Given the description of an element on the screen output the (x, y) to click on. 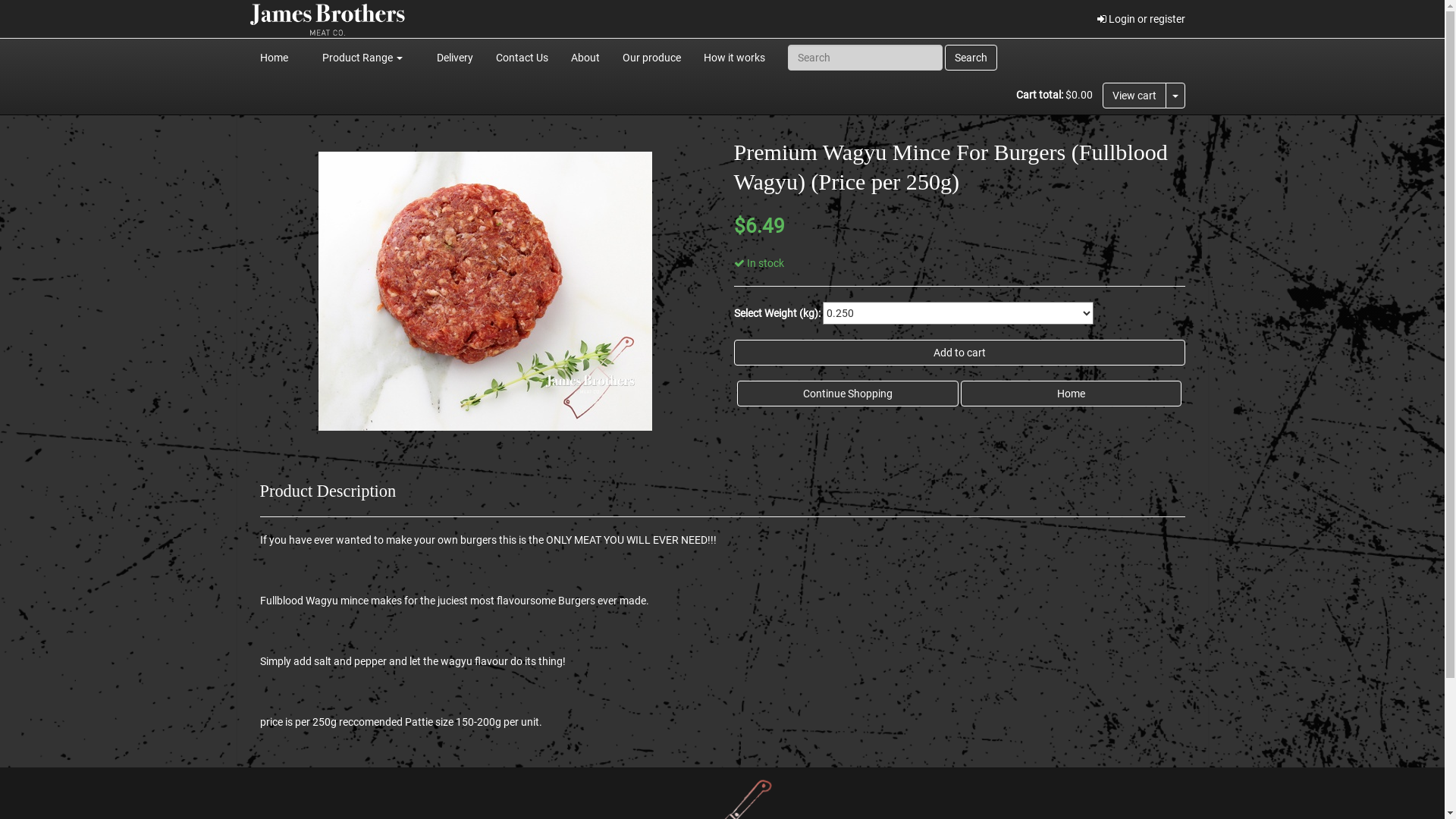
Add to cart Element type: text (959, 352)
Contact Us Element type: text (520, 57)
About Element type: text (585, 57)
Continue Shopping Element type: text (847, 393)
Search Element type: text (970, 57)
Home Element type: text (1070, 393)
View cart Element type: text (1134, 95)
How it works Element type: text (733, 57)
Delivery Element type: text (453, 57)
Login or register Element type: text (1140, 18)
Our produce Element type: text (651, 57)
Home Element type: text (273, 57)
Product Range Element type: text (362, 57)
